Given the description of an element on the screen output the (x, y) to click on. 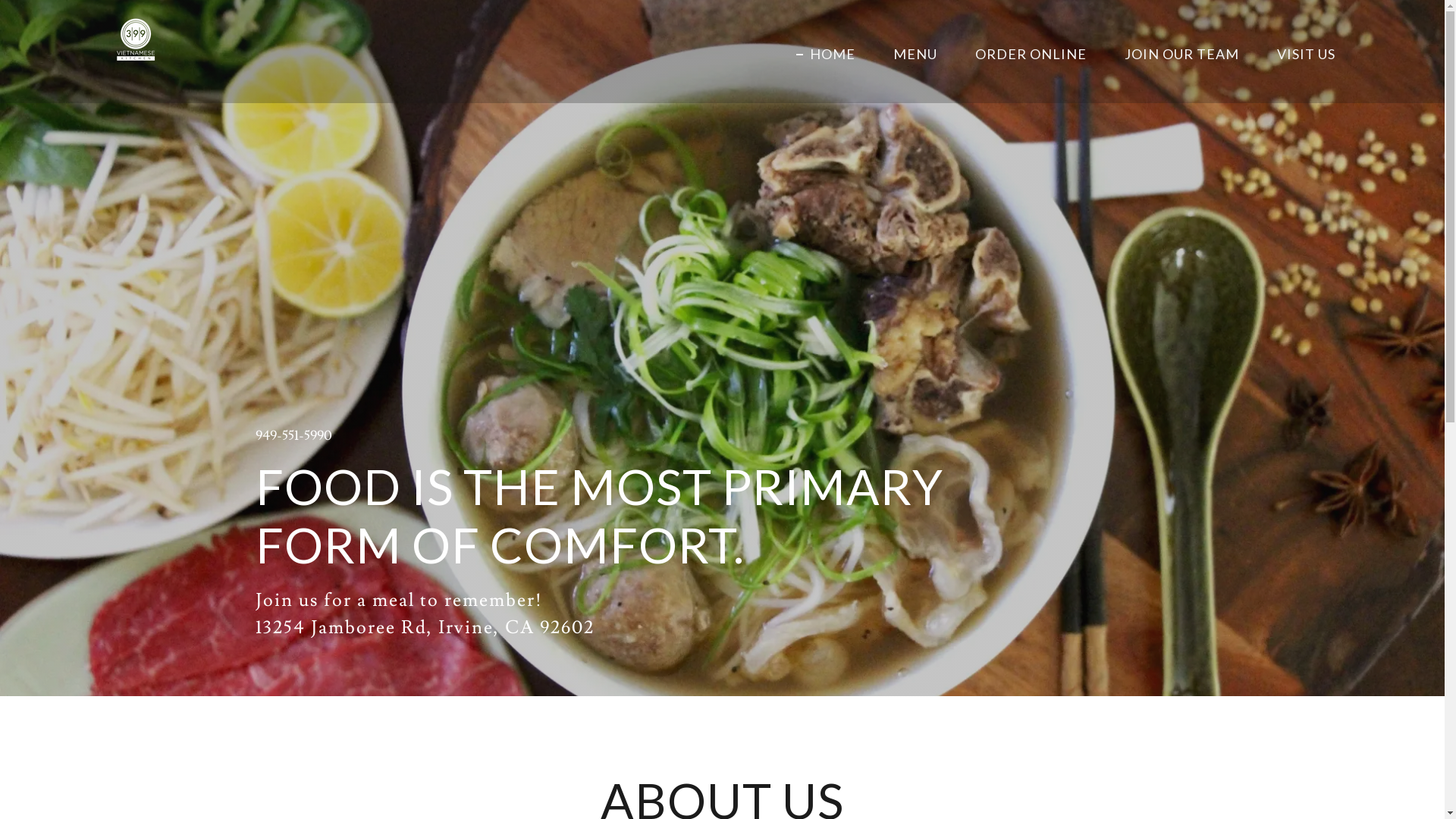
JOIN OUR TEAM Element type: text (1174, 52)
ORDER ONLINE Element type: text (1024, 52)
MENU Element type: text (908, 52)
VISIT US Element type: text (1298, 52)
949-551-5990 Element type: text (292, 435)
399 Kitchen Element type: hover (136, 47)
HOME Element type: text (825, 52)
